Given the description of an element on the screen output the (x, y) to click on. 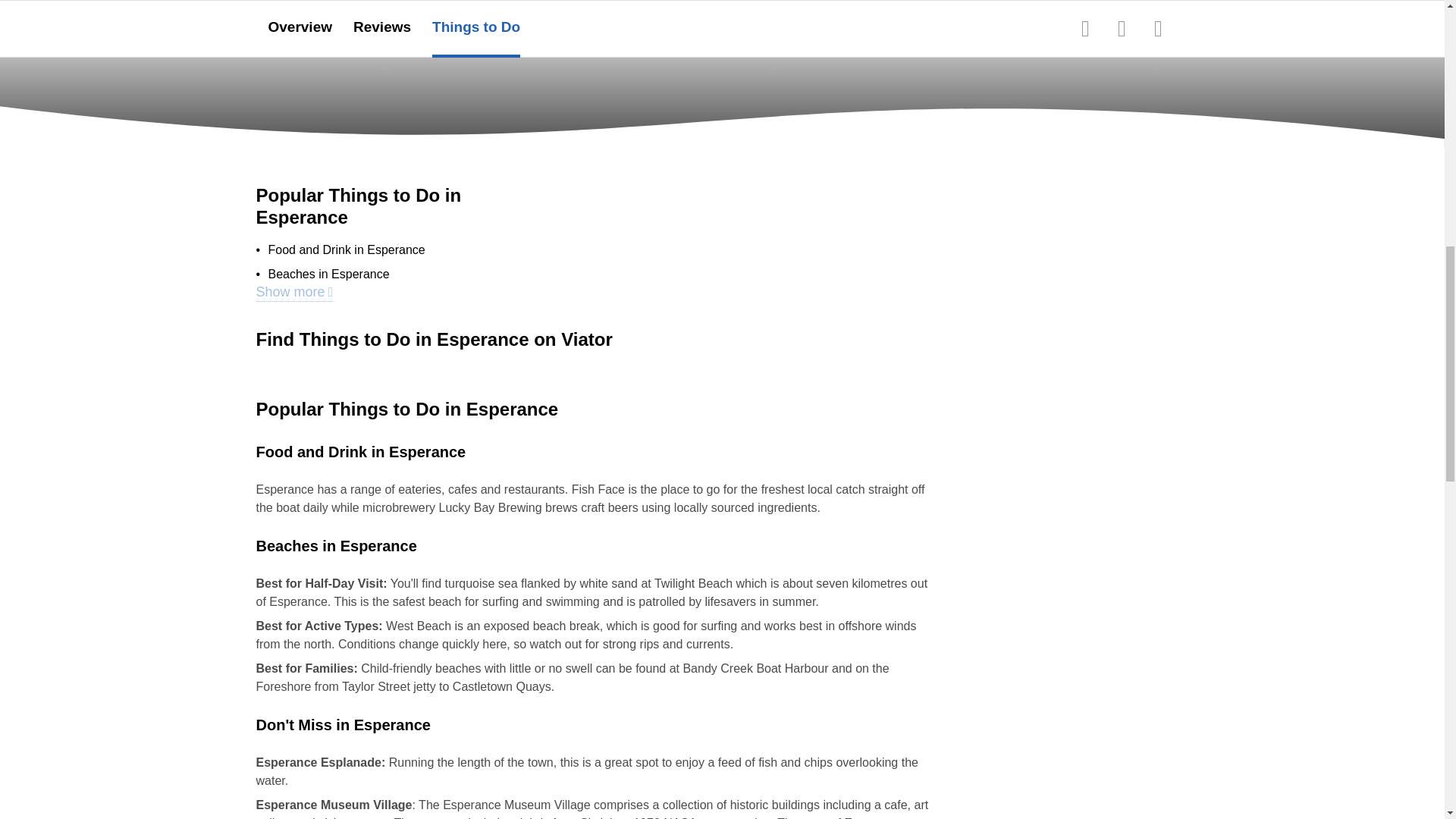
Show more (294, 293)
Food and Drink in Esperance (346, 249)
Beaches in Esperance (328, 274)
